Given the description of an element on the screen output the (x, y) to click on. 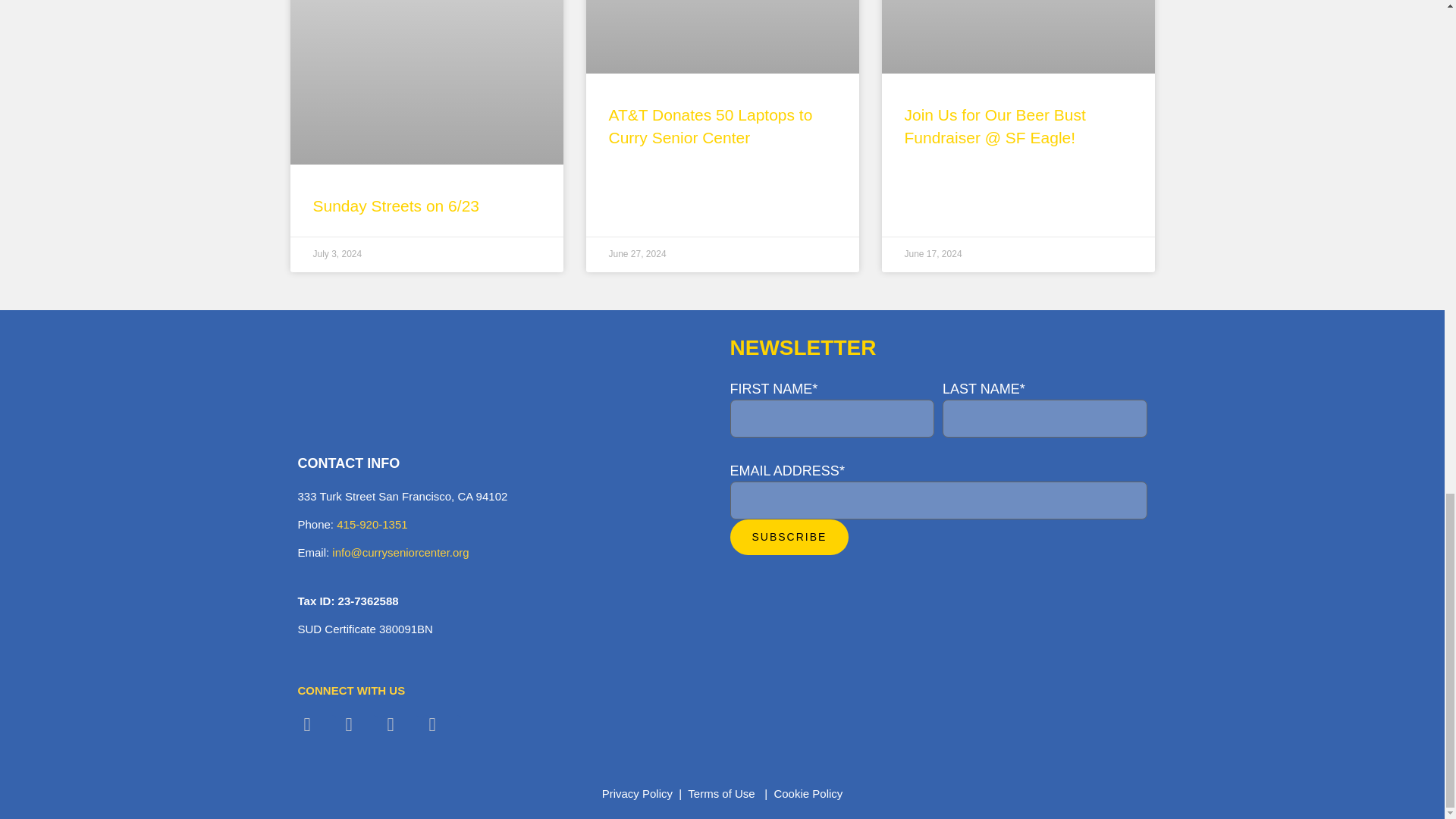
SUBSCRIBE (788, 537)
